Given the description of an element on the screen output the (x, y) to click on. 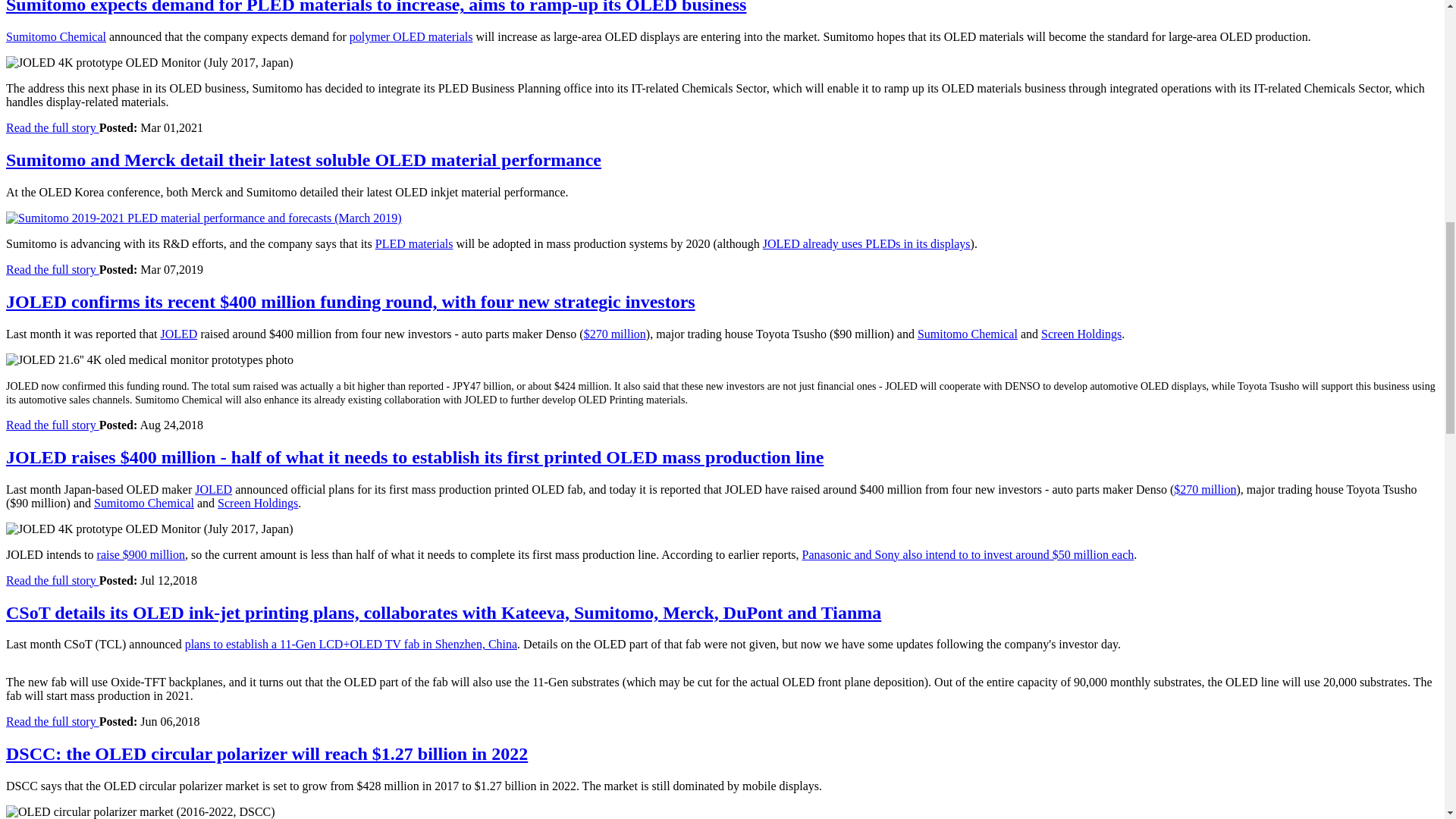
Sumitomo Chemical (55, 36)
polymer OLED materials (411, 36)
Read the full story (52, 127)
PLED materials (413, 243)
